Given the description of an element on the screen output the (x, y) to click on. 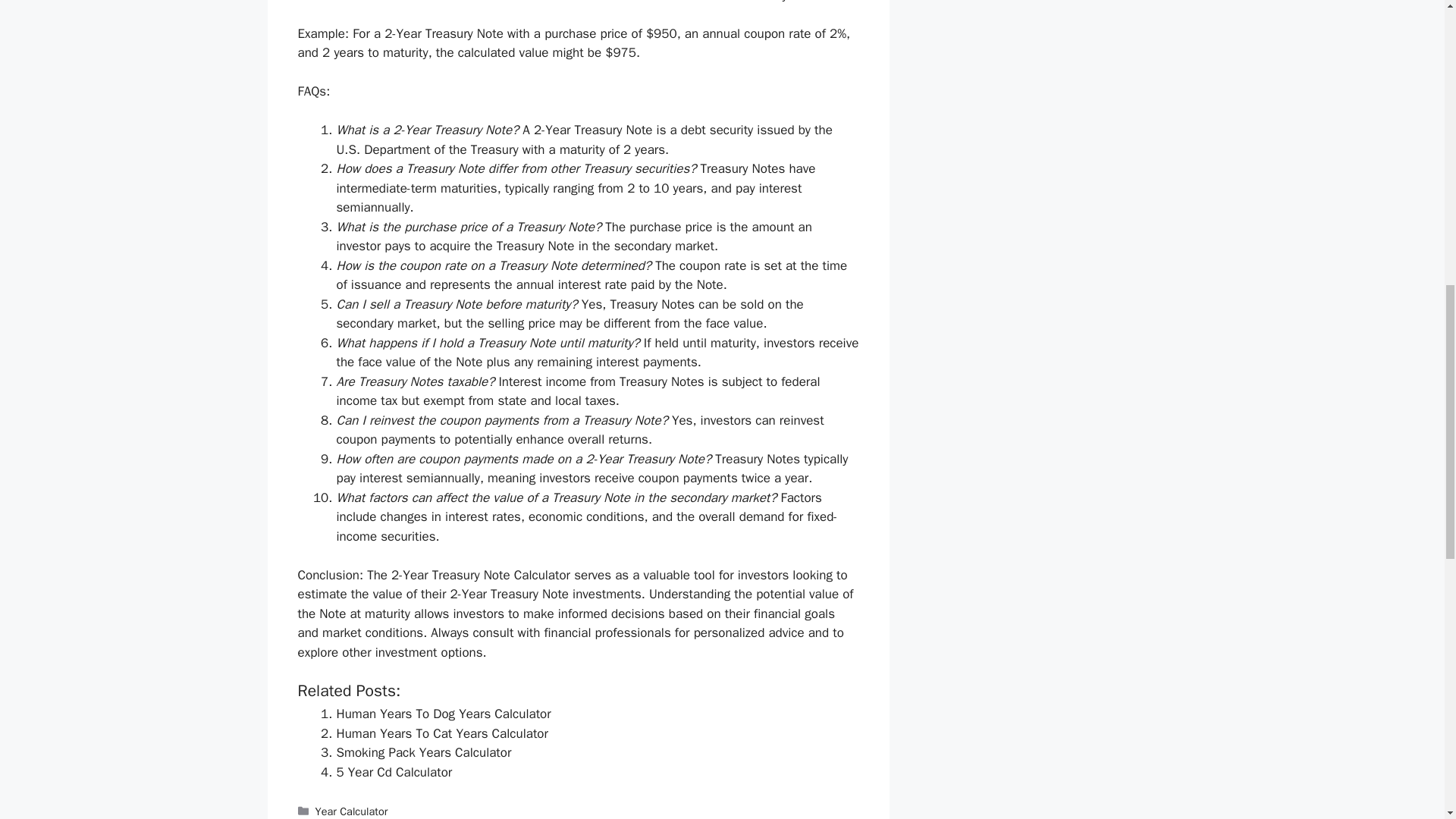
Smoking Pack Years Calculator (424, 752)
Human Years To Cat Years Calculator (442, 733)
Human Years To Dog Years Calculator (443, 713)
Smoking Pack Years Calculator (424, 752)
Human Years To Dog Years Calculator (443, 713)
Year Calculator (351, 811)
5 Year Cd Calculator (394, 772)
5 Year Cd Calculator (394, 772)
Human Years To Cat Years Calculator (442, 733)
